Given the description of an element on the screen output the (x, y) to click on. 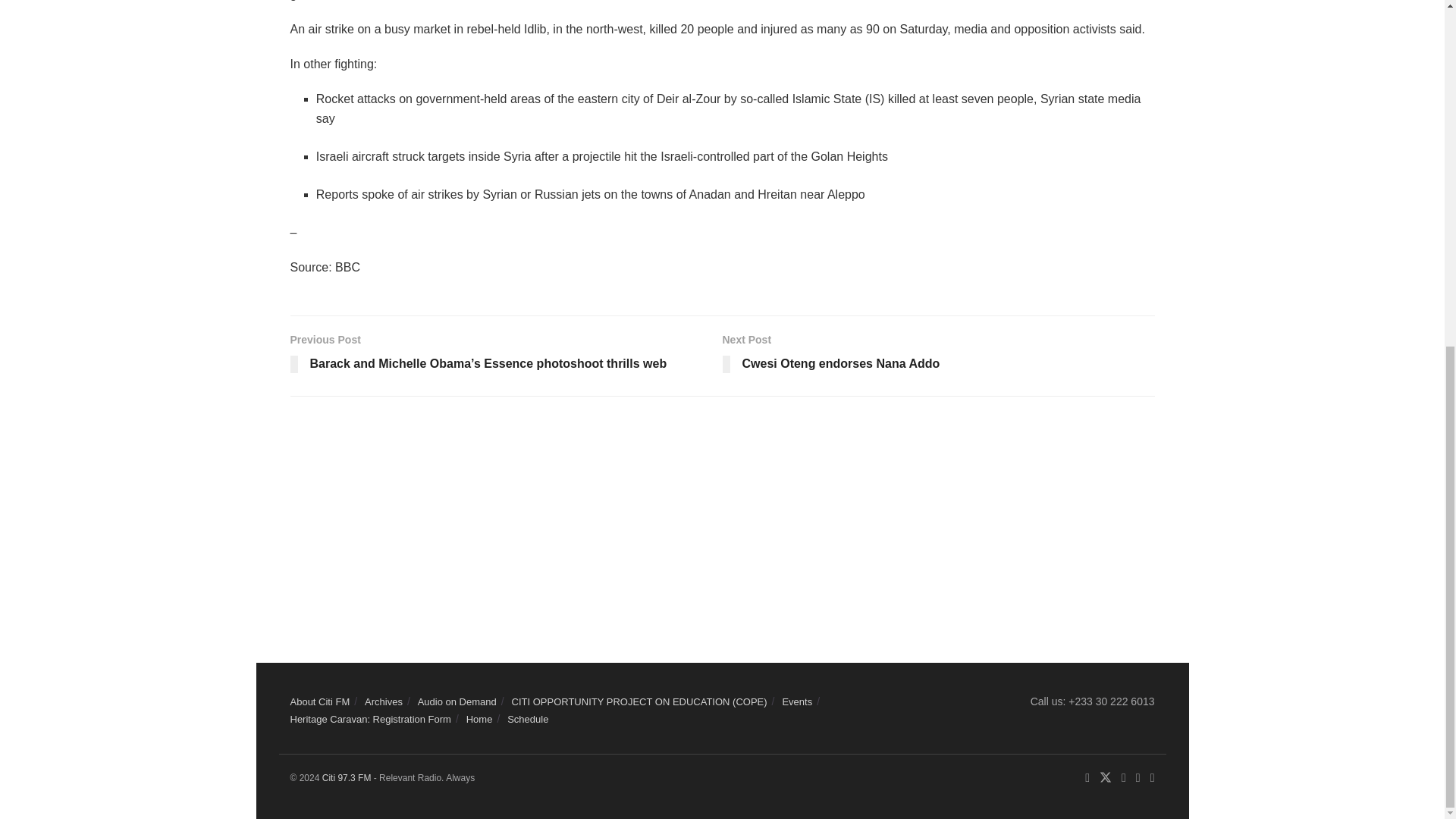
About Citi FM (319, 701)
Citi 97.3 FM (346, 777)
Advertisement (938, 355)
